Given the description of an element on the screen output the (x, y) to click on. 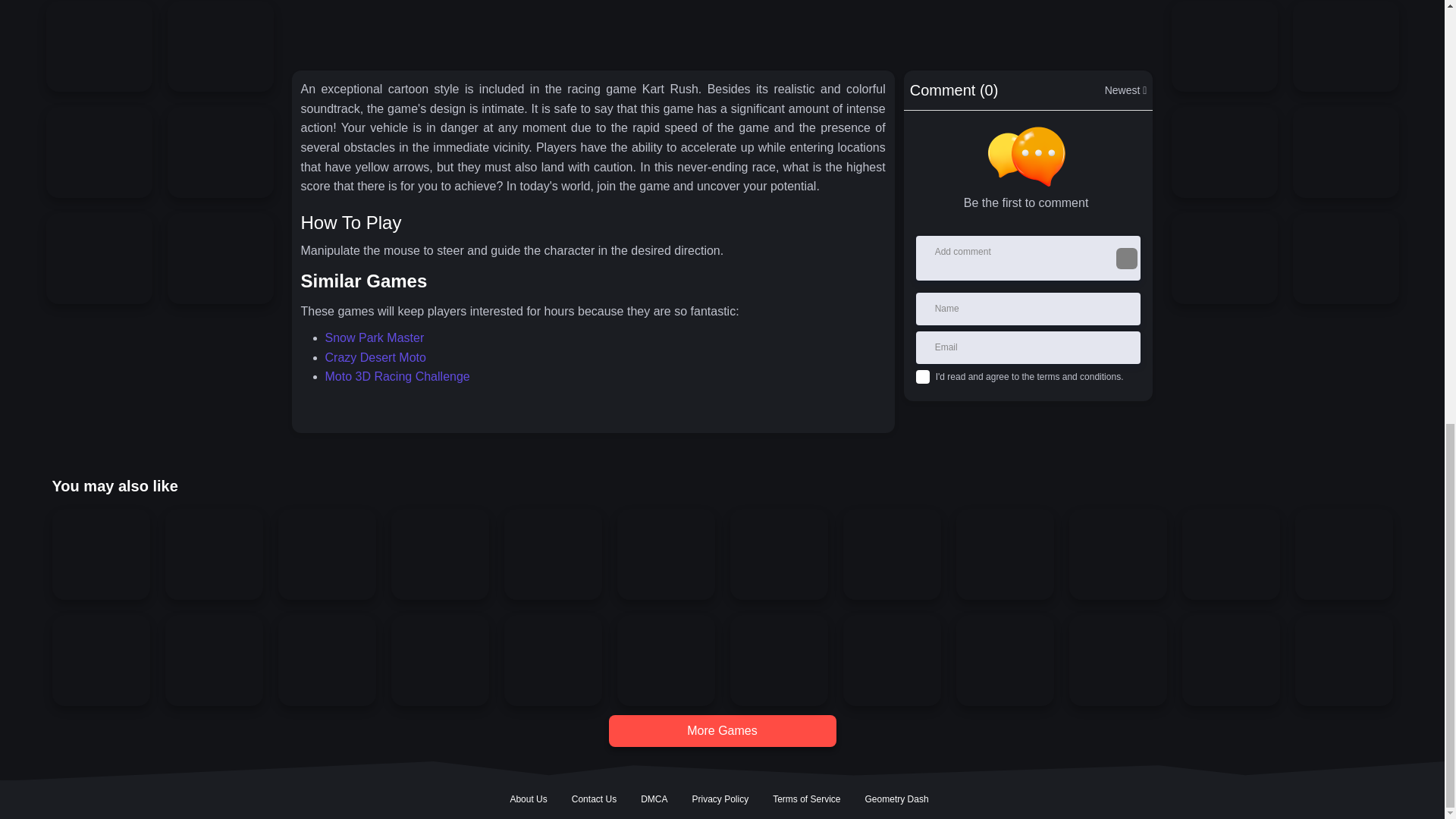
Contact Us (593, 799)
Advertisement (721, 29)
Snow Park Master (373, 337)
Crazy Desert Moto (374, 357)
Geometry Dash (896, 799)
Newest (1126, 97)
Privacy Policy (719, 799)
Moto 3D Racing Challenge (396, 376)
Be the first to comment (1031, 169)
About Us (528, 799)
